Given the description of an element on the screen output the (x, y) to click on. 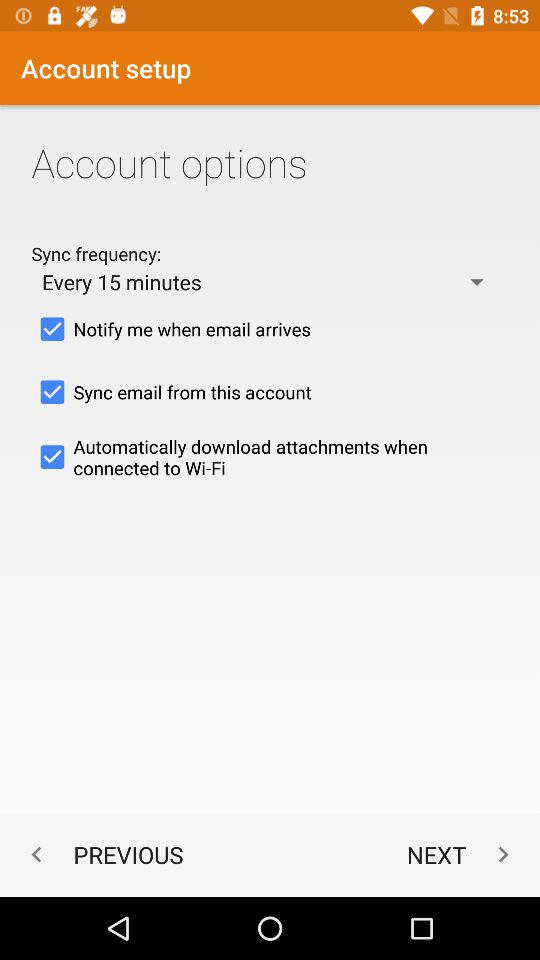
flip until the previous icon (102, 854)
